Given the description of an element on the screen output the (x, y) to click on. 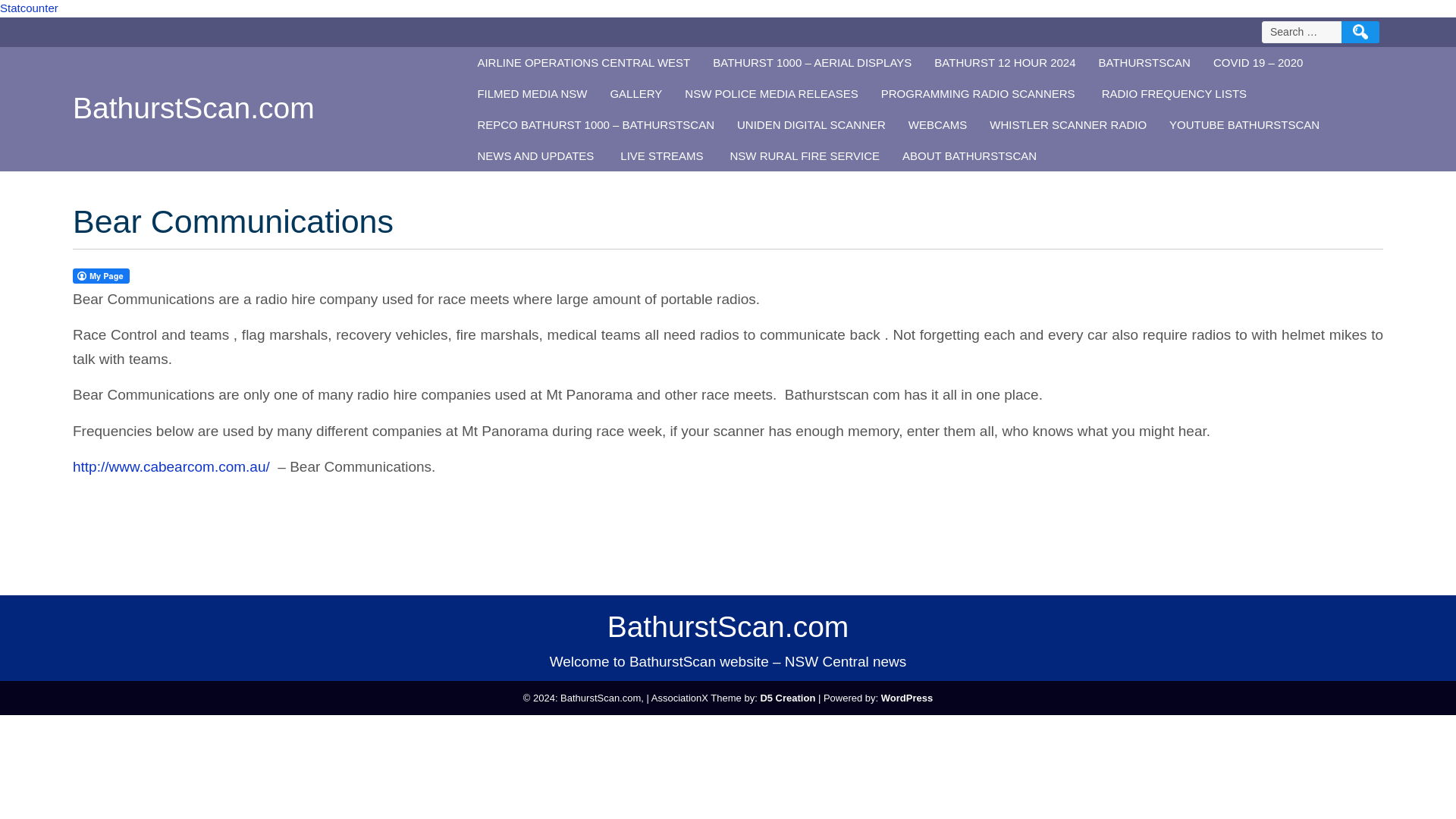
FILMED MEDIA NSW (531, 92)
NEWS AND UPDATES (536, 154)
Statcounter (29, 7)
BATHURST 12 HOUR 2024 (1004, 61)
WHISTLER SCANNER RADIO (1067, 124)
BathurstScan.com (193, 108)
Search (1359, 32)
BATHURSTSCAN (1144, 61)
AIRLINE OPERATIONS CENTRAL WEST (583, 61)
Search (1359, 32)
PROGRAMMING RADIO SCANNERS (979, 92)
WEBCAMS (937, 124)
RADIO FREQUENCY LISTS (1176, 92)
NSW POLICE MEDIA RELEASES (770, 92)
Search (1359, 32)
